Given the description of an element on the screen output the (x, y) to click on. 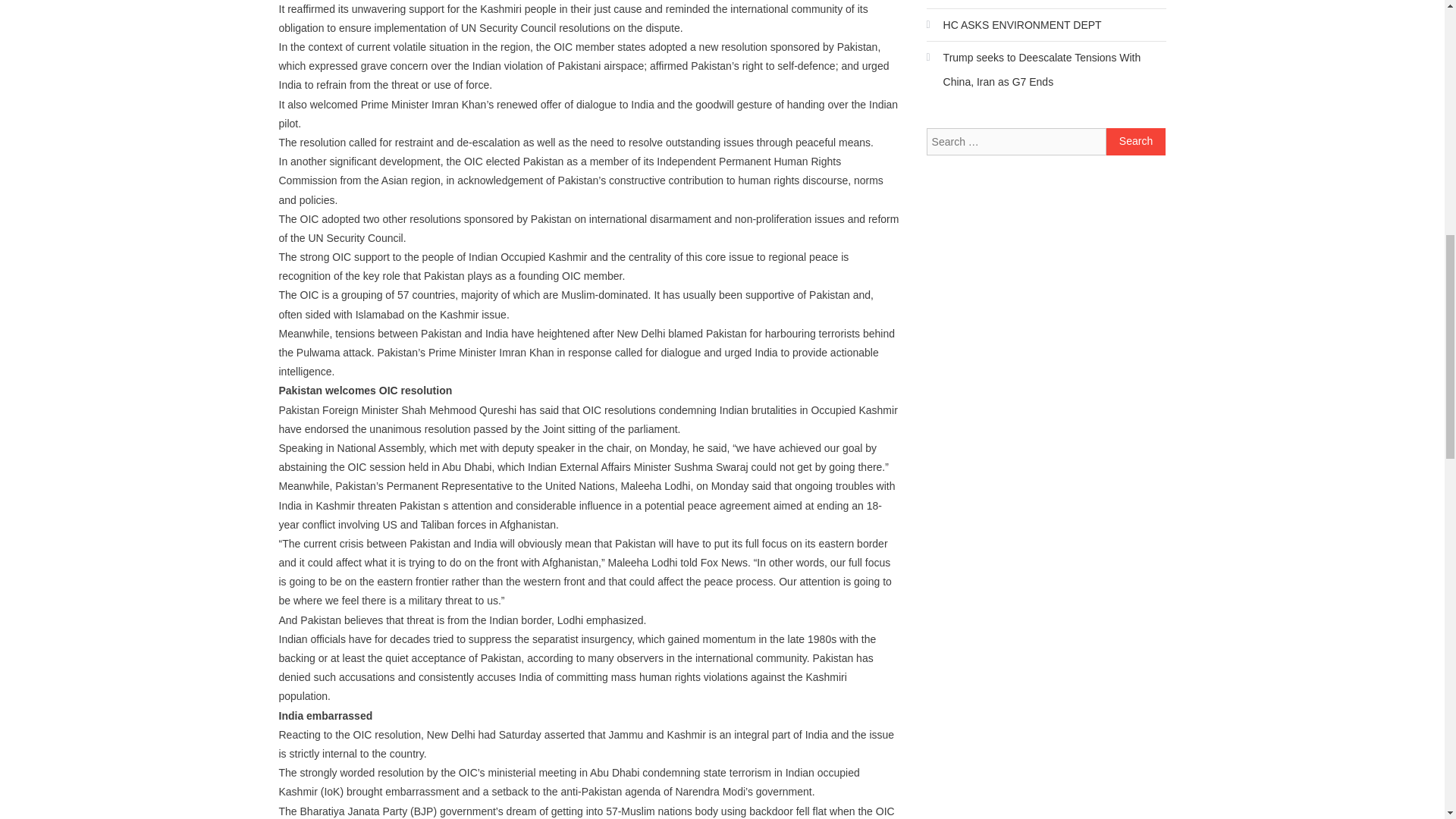
Search (1136, 141)
Search (1136, 141)
